Given the description of an element on the screen output the (x, y) to click on. 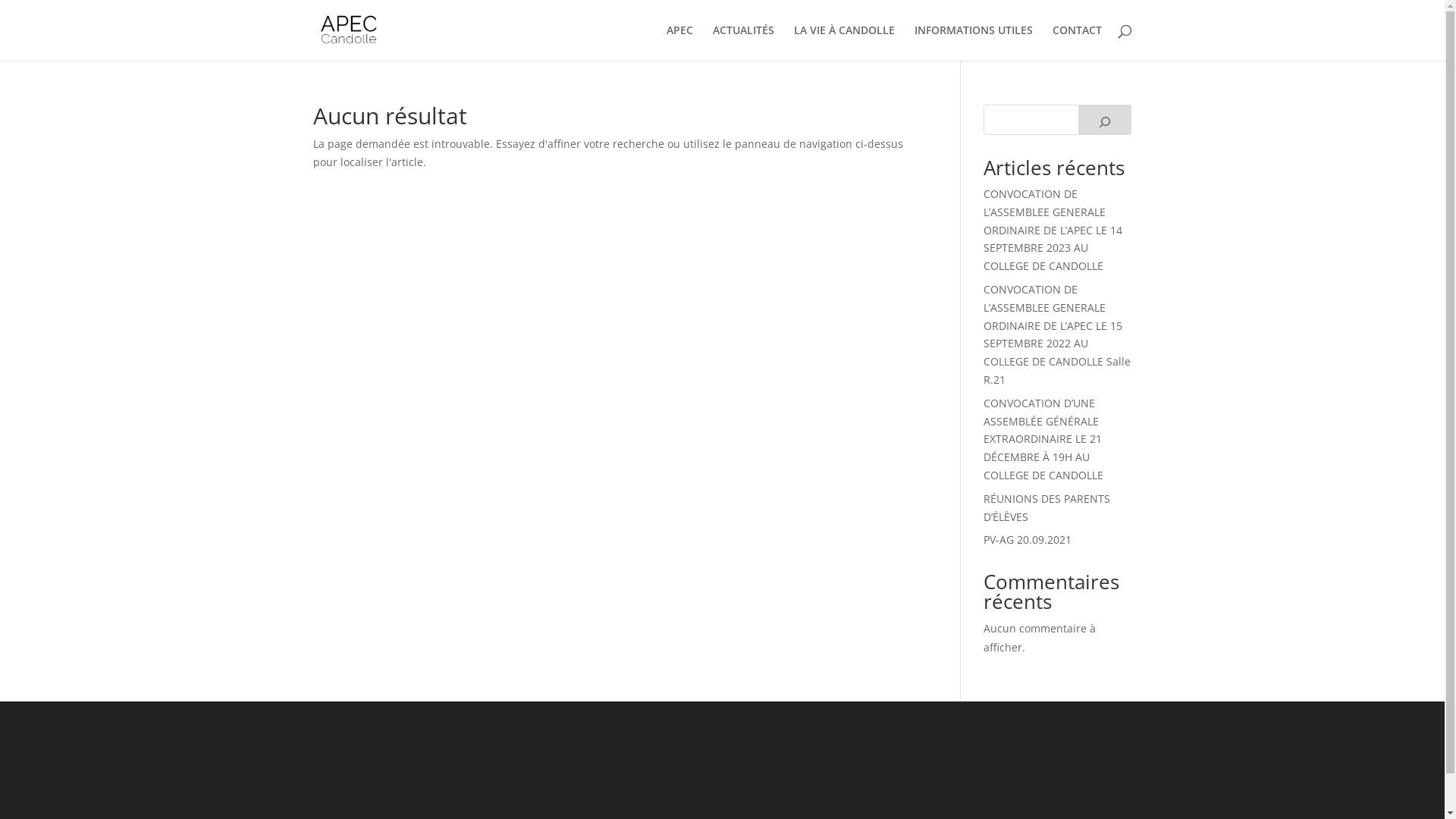
INFORMATIONS UTILES Element type: text (973, 42)
PV-AG 20.09.2021 Element type: text (1027, 539)
APEC Element type: text (678, 42)
CONTACT Element type: text (1076, 42)
